Given the description of an element on the screen output the (x, y) to click on. 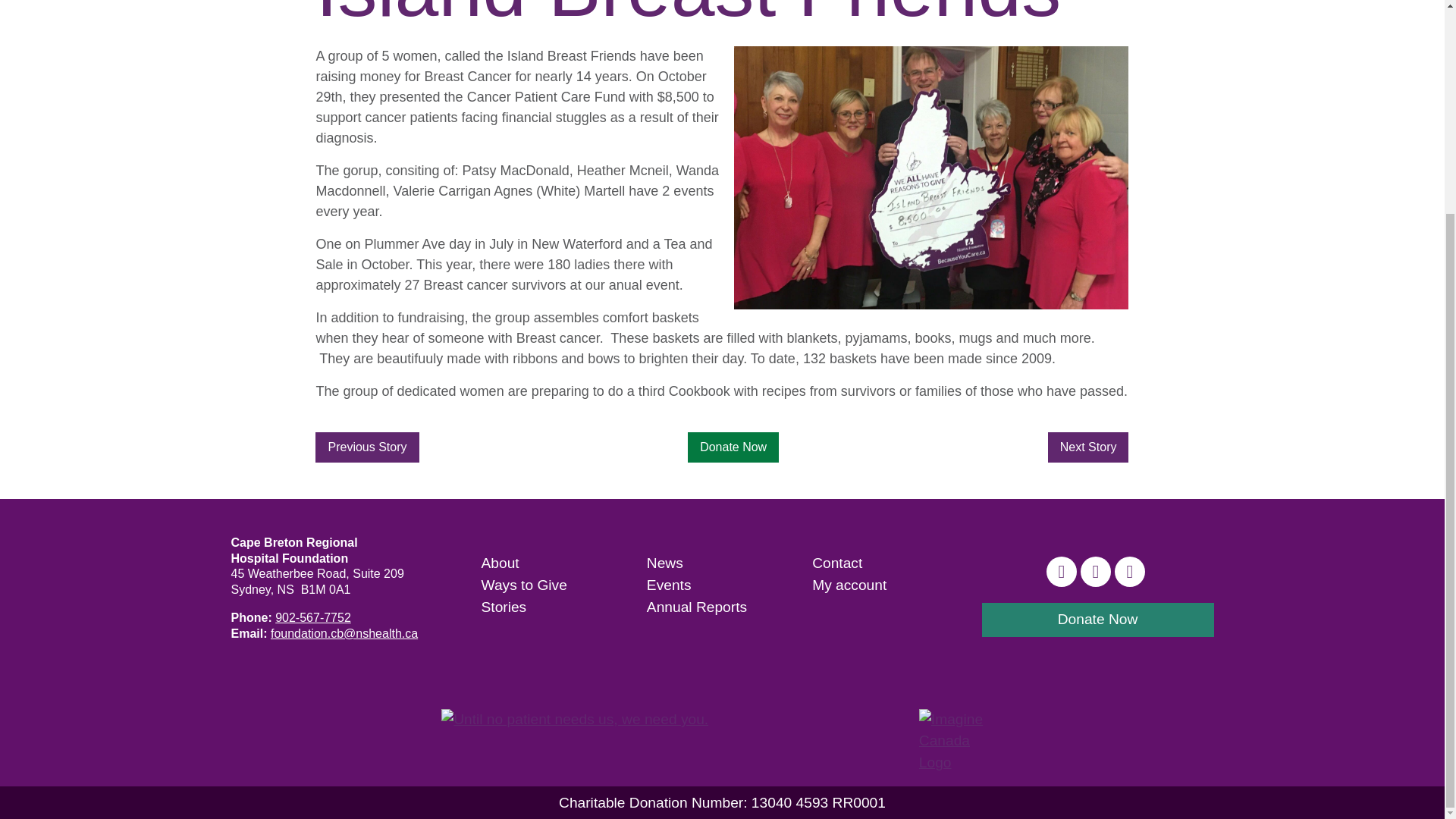
About (499, 562)
Events (668, 584)
Contact (836, 562)
News (664, 562)
902-567-7752 (312, 617)
Donate Now (1096, 619)
Stories (502, 606)
My account (849, 584)
Previous Story (367, 447)
Donate Now (732, 447)
